Given the description of an element on the screen output the (x, y) to click on. 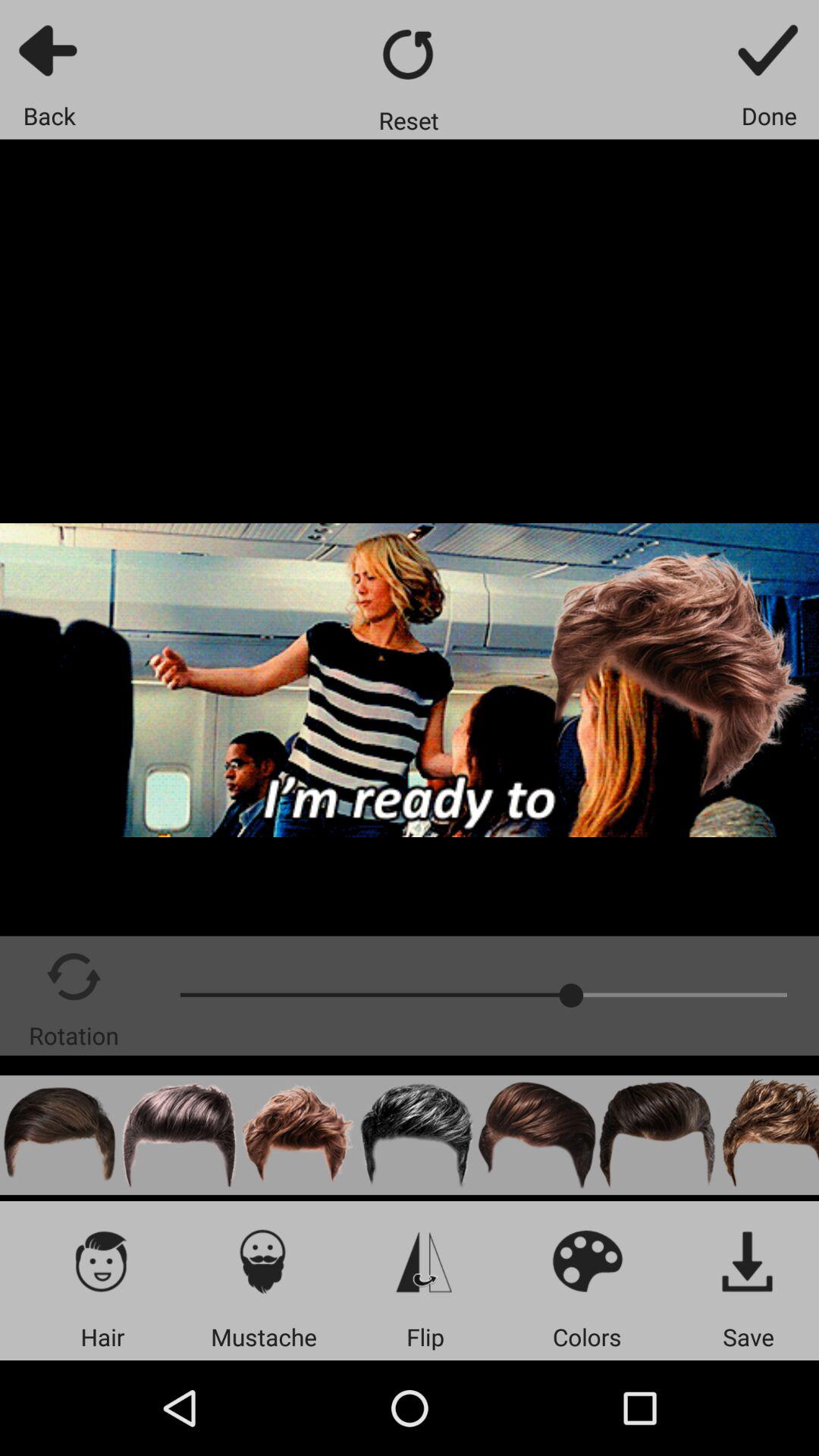
click to complete (769, 49)
